Given the description of an element on the screen output the (x, y) to click on. 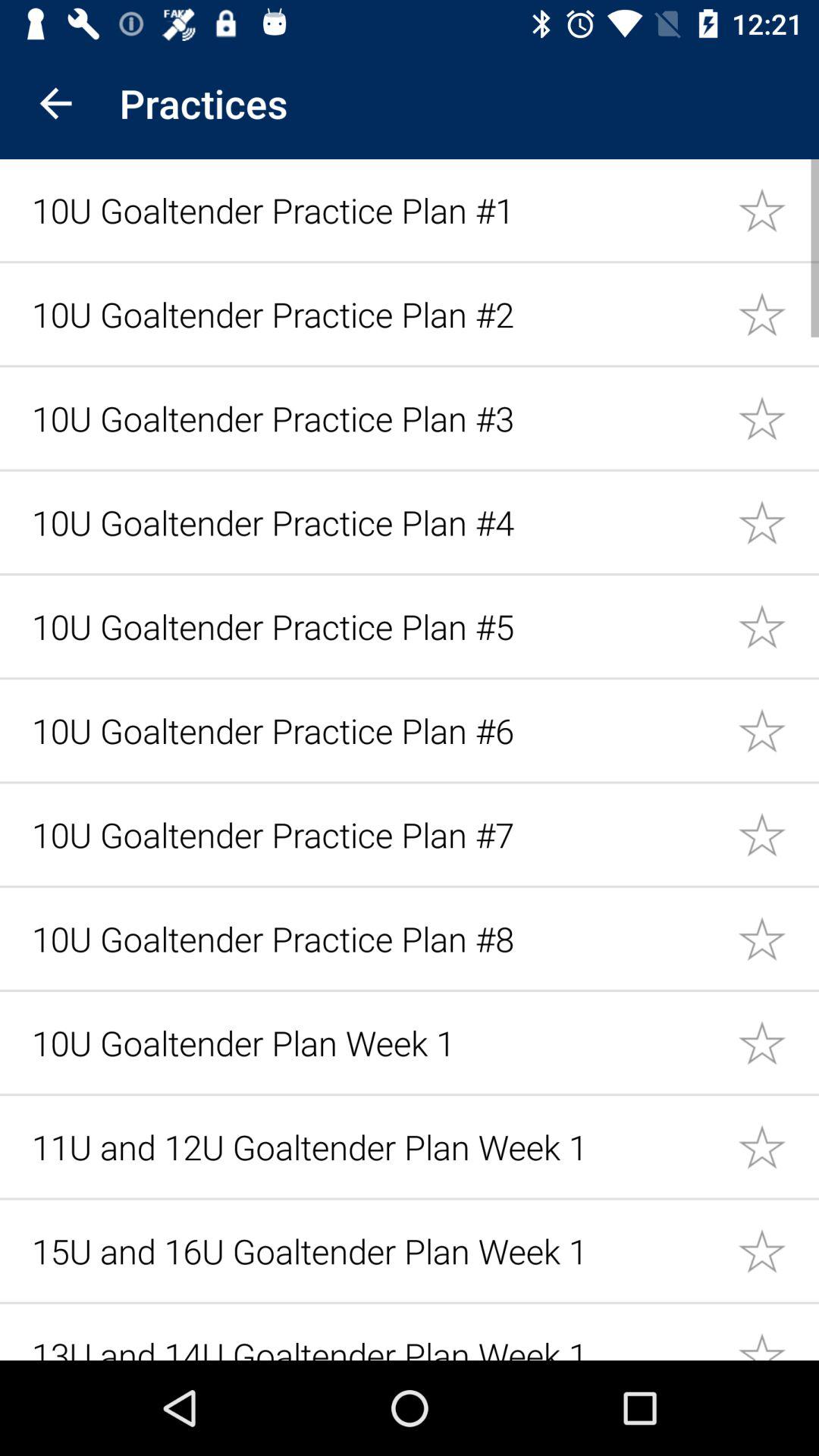
set favorite to 15u and 16u goaltender plan week1 (778, 1250)
